Given the description of an element on the screen output the (x, y) to click on. 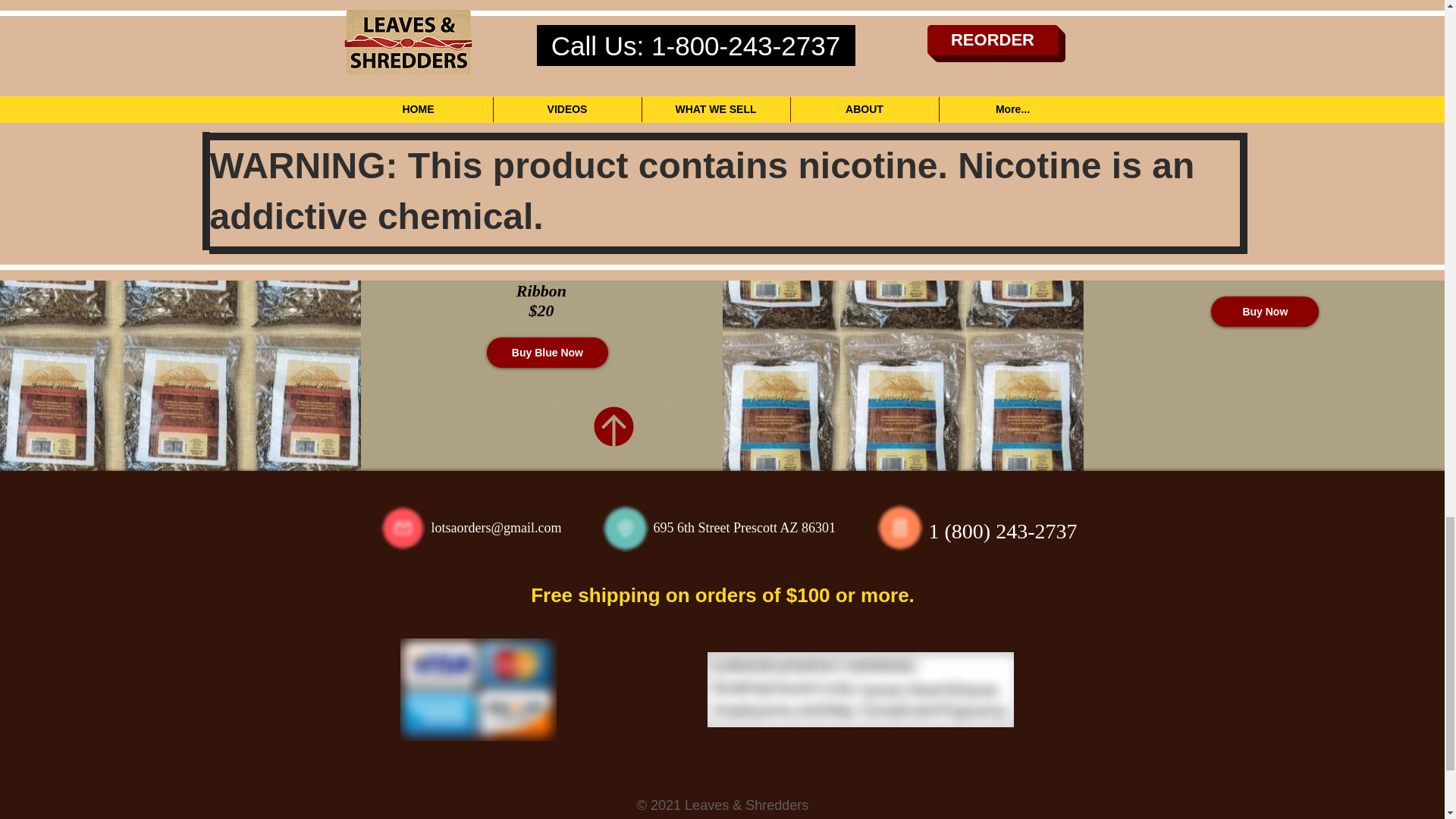
Buy Blue Now (547, 352)
Buy Red Now (541, 215)
Buy Now (1265, 311)
